Given the description of an element on the screen output the (x, y) to click on. 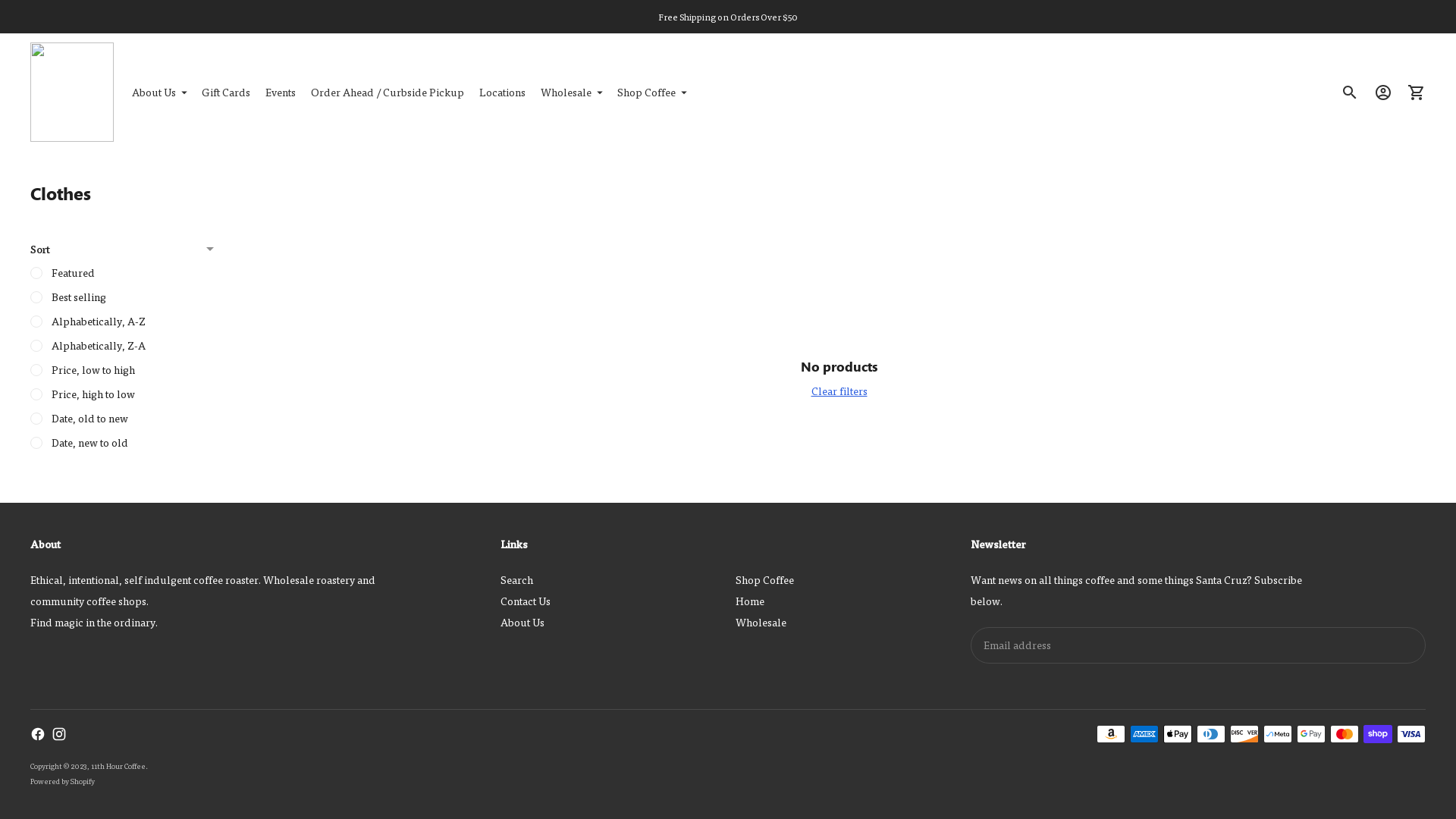
Search Element type: text (516, 579)
Free Shipping on Orders Over $50 Element type: text (727, 16)
Contact Us Element type: text (525, 600)
Alphabetically, A-Z Element type: text (121, 321)
Gift Cards Element type: text (225, 92)
Shop Coffee Element type: text (764, 579)
Order Ahead / Curbside Pickup Element type: text (387, 92)
11th Hour Coffee Element type: text (118, 765)
Alphabetically, Z-A Element type: text (121, 345)
About Us Element type: text (158, 92)
Wholesale Element type: text (760, 622)
Wholesale Element type: text (571, 92)
Shop Coffee Element type: text (651, 92)
Best selling Element type: text (121, 297)
11th Hour Coffee on Instagram Element type: hover (58, 733)
Price, high to low Element type: text (121, 394)
Featured Element type: text (121, 272)
Date, old to new Element type: text (121, 418)
Powered by Shopify Element type: text (62, 780)
Home Element type: text (749, 600)
About Us Element type: text (522, 622)
Clear filters Element type: text (839, 391)
Price, low to high Element type: text (121, 369)
11th Hour Coffee on Facebook Element type: hover (37, 733)
Date, new to old Element type: text (121, 442)
Events Element type: text (280, 92)
Locations Element type: text (502, 92)
